Given the description of an element on the screen output the (x, y) to click on. 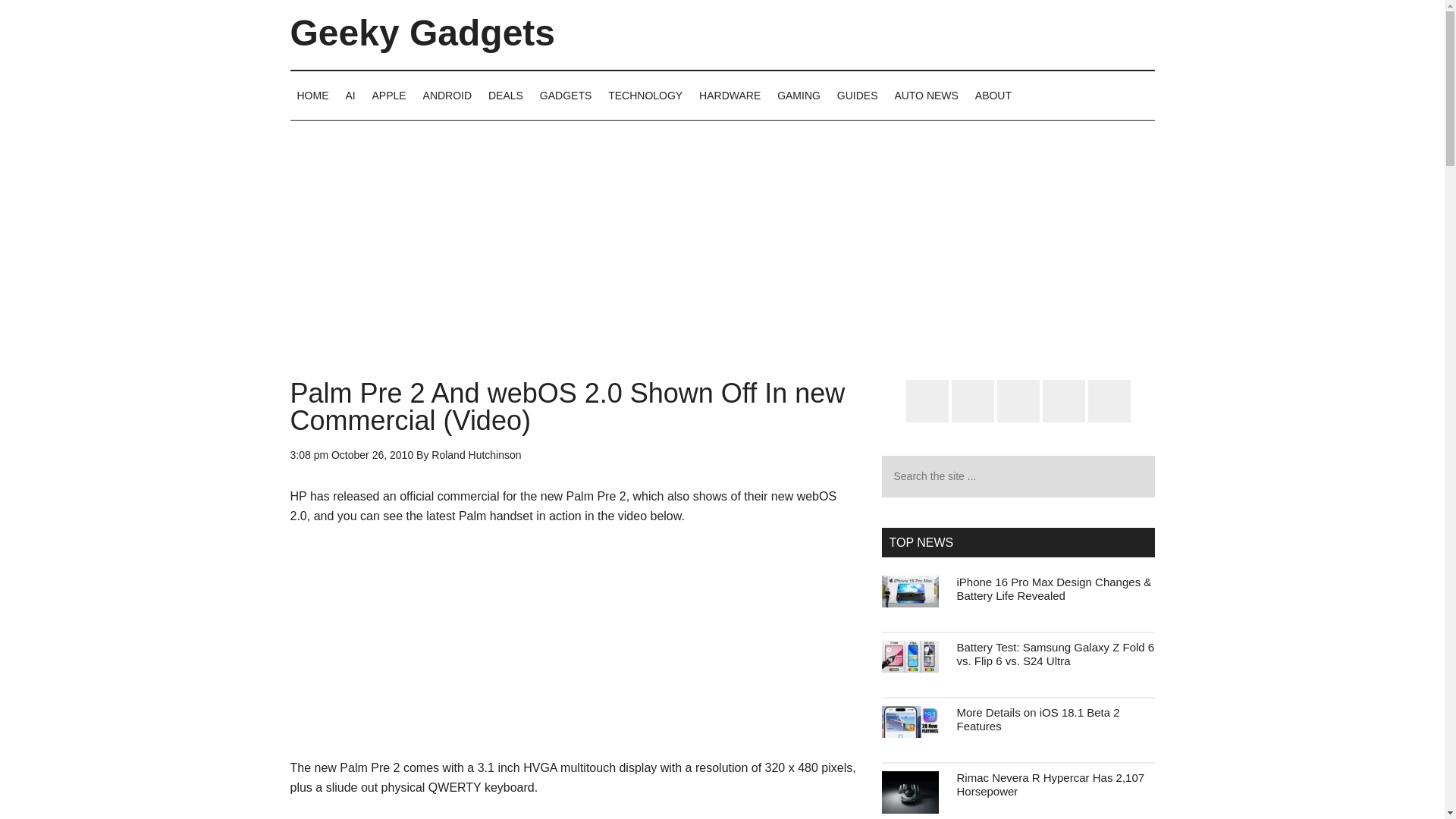
More Details on iOS 18.1 Beta 2 Features (1037, 718)
Geeky Gadgets (421, 33)
APPLE (389, 95)
GAMING (798, 95)
About Geeky Gadgets (992, 95)
AUTO NEWS (925, 95)
HOME (311, 95)
GADGETS (565, 95)
